Given the description of an element on the screen output the (x, y) to click on. 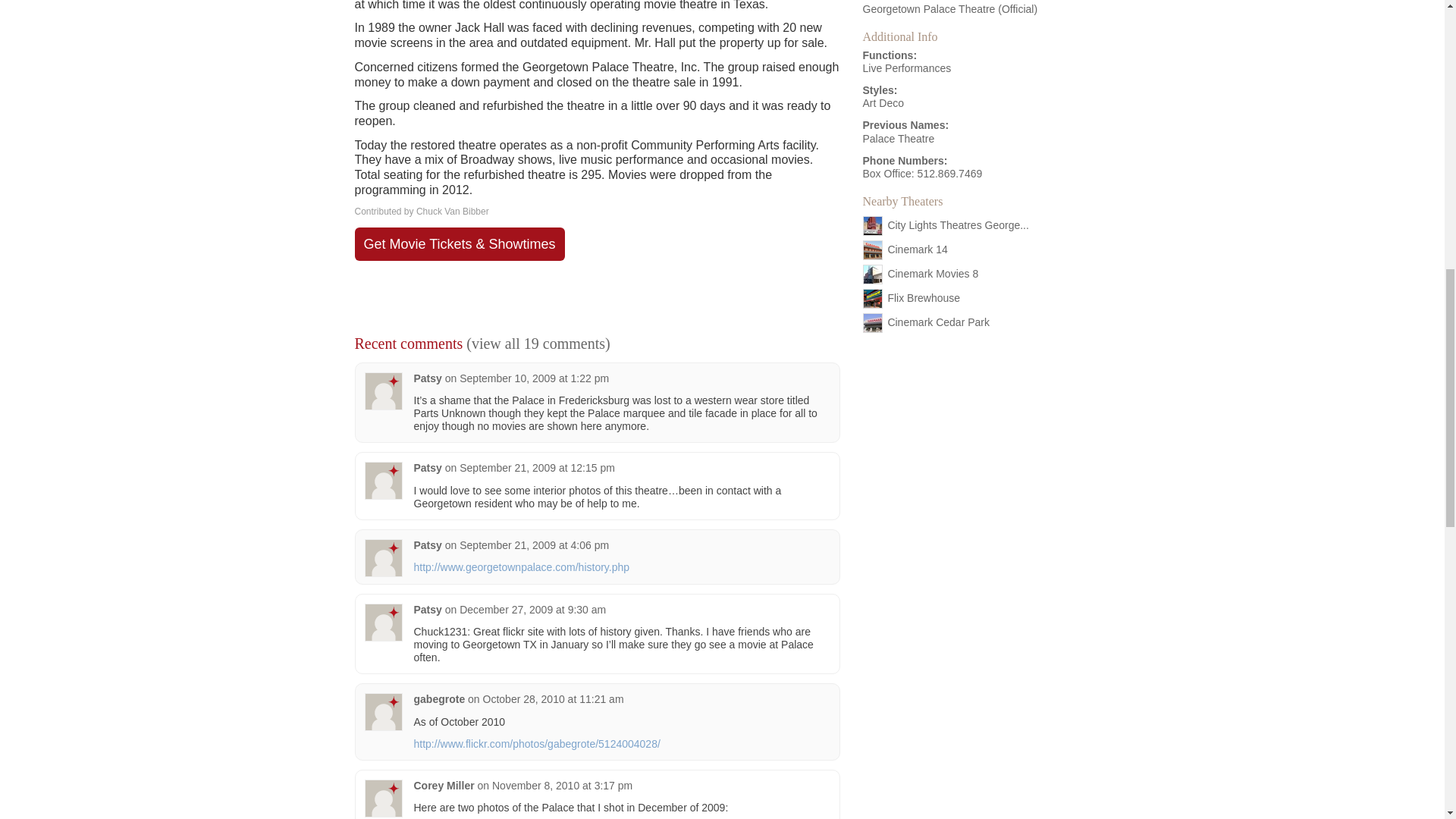
Cinemark Movies 8 (932, 273)
Patsy (427, 378)
Georgetown Palace Theatre (929, 9)
City Lights Theatres George... (957, 224)
Flix Brewhouse (922, 297)
Cinemark Cedar Park (938, 322)
Cinemark 14 (916, 249)
Art Deco (883, 102)
Live Performances (907, 68)
